Given the description of an element on the screen output the (x, y) to click on. 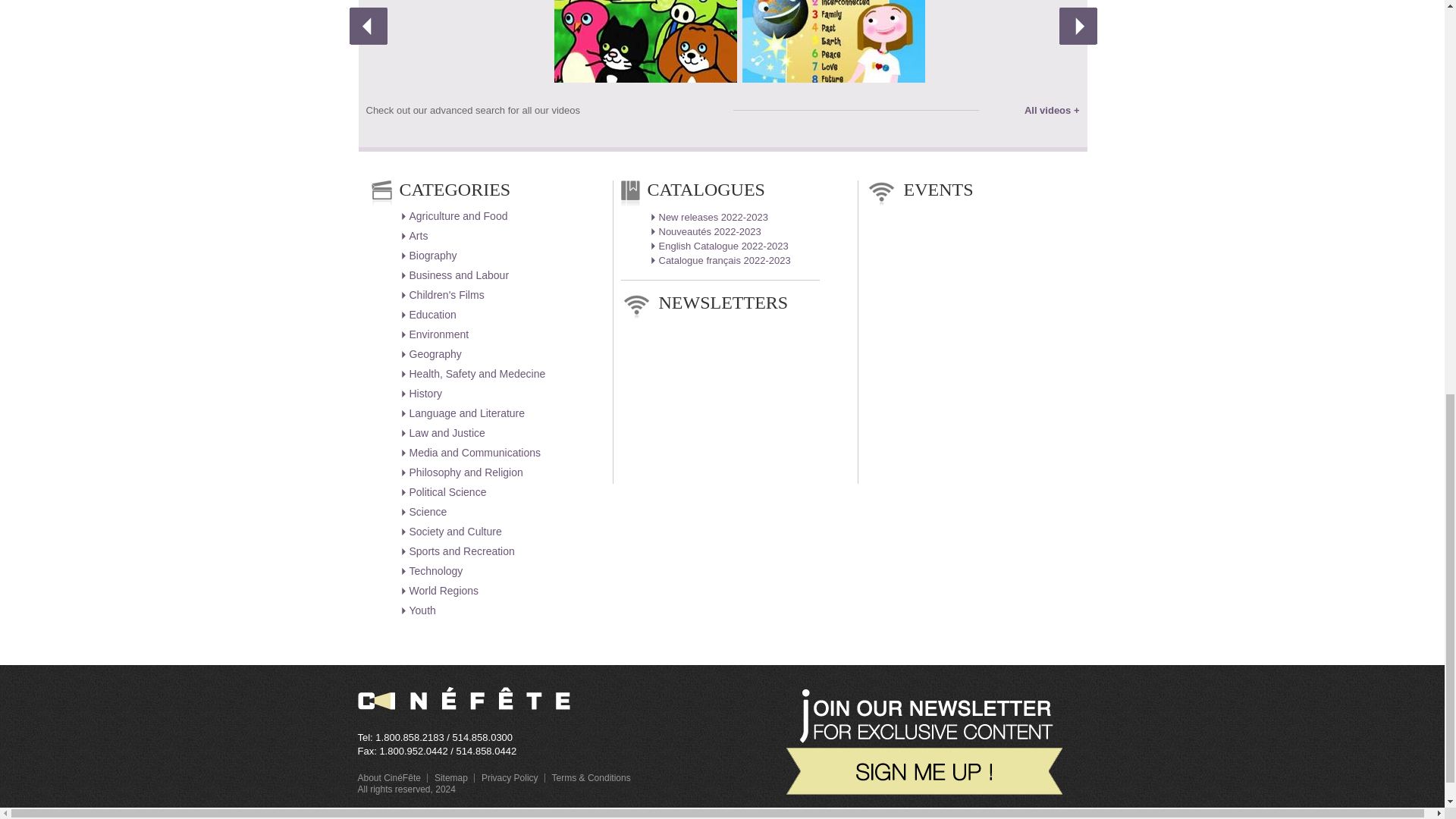
Cat General A22 23 220928 (718, 245)
Cat New 2022 2023 220920 (709, 216)
